Given the description of an element on the screen output the (x, y) to click on. 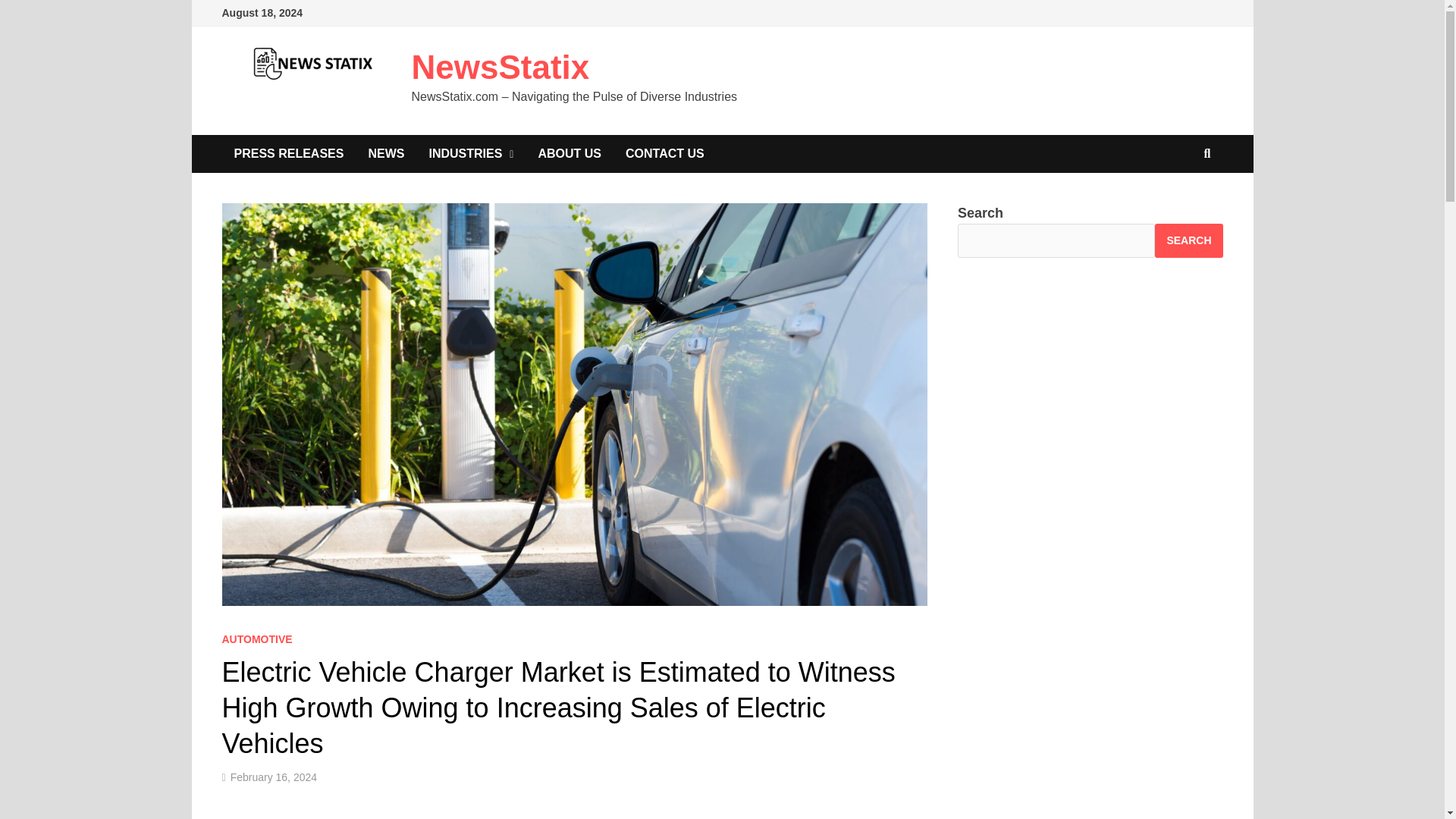
ABOUT US (568, 153)
CONTACT US (664, 153)
NewsStatix (499, 66)
PRESS RELEASES (288, 153)
INDUSTRIES (470, 153)
NEWS (385, 153)
